Given the description of an element on the screen output the (x, y) to click on. 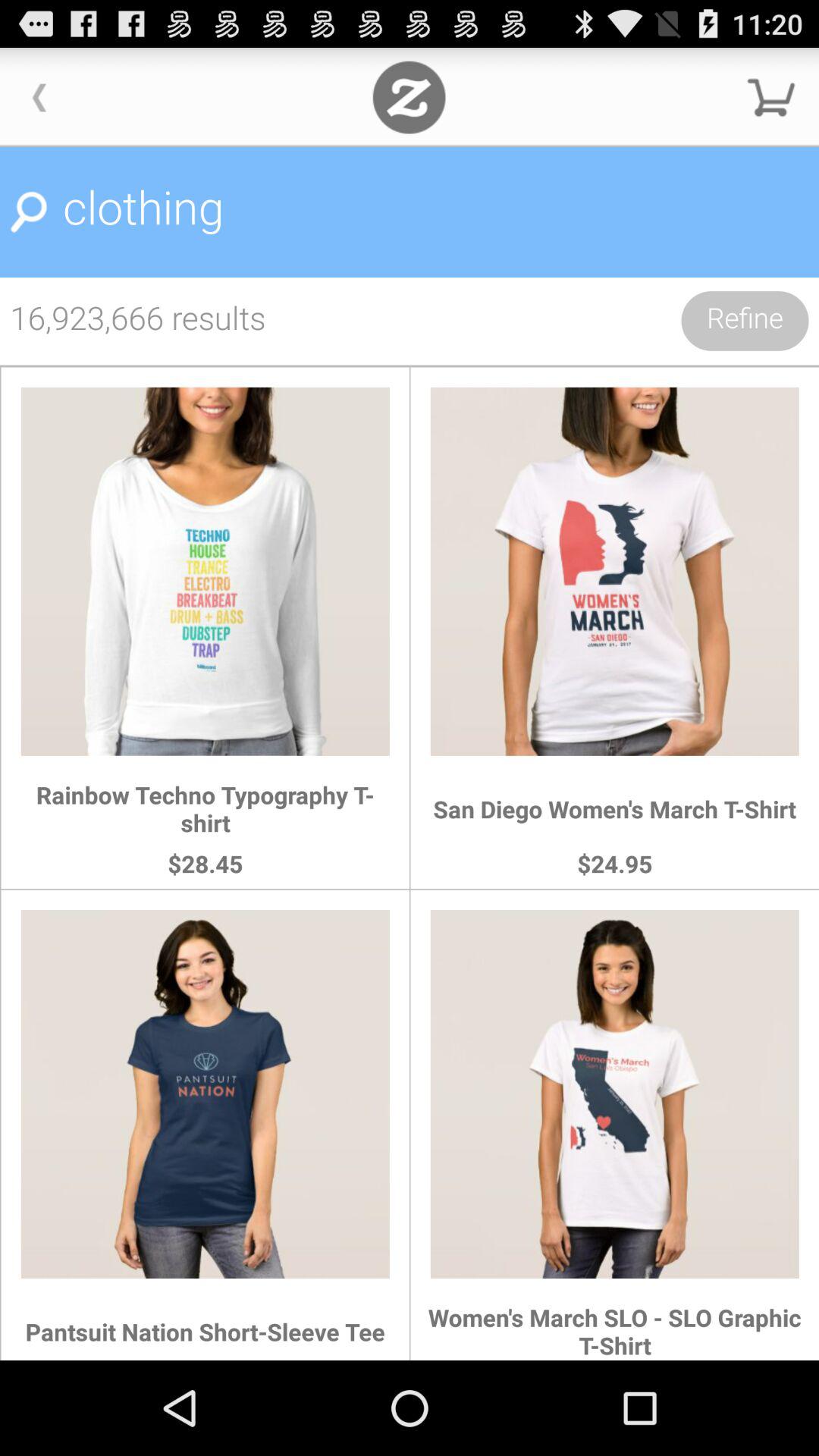
press the icon below the clothing icon (744, 320)
